Given the description of an element on the screen output the (x, y) to click on. 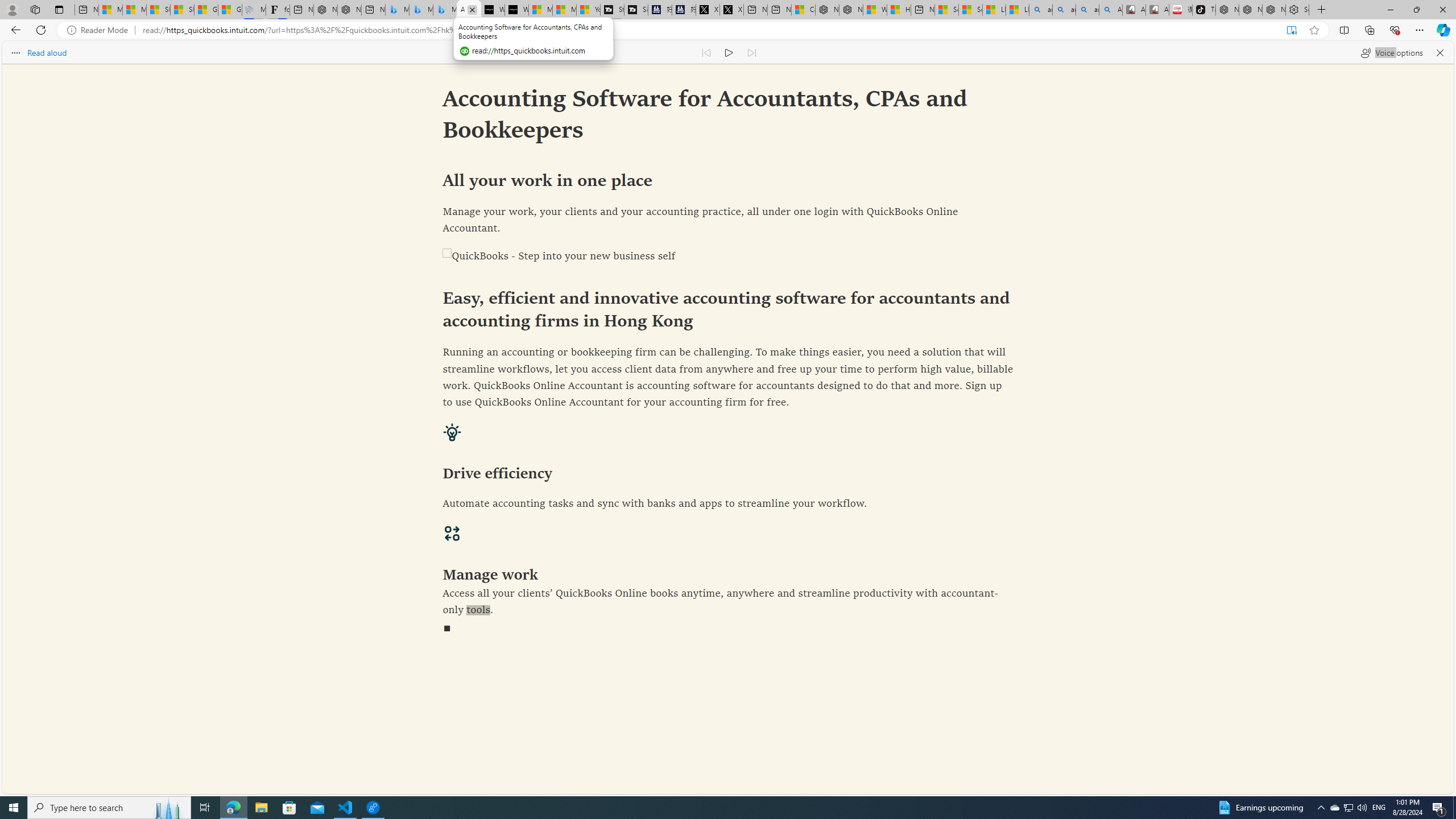
Nordace - Siena Pro 15 Essential Set (1273, 9)
Exit Immersive Reader (F9) (1291, 29)
Read previous paragraph (705, 52)
